Given the description of an element on the screen output the (x, y) to click on. 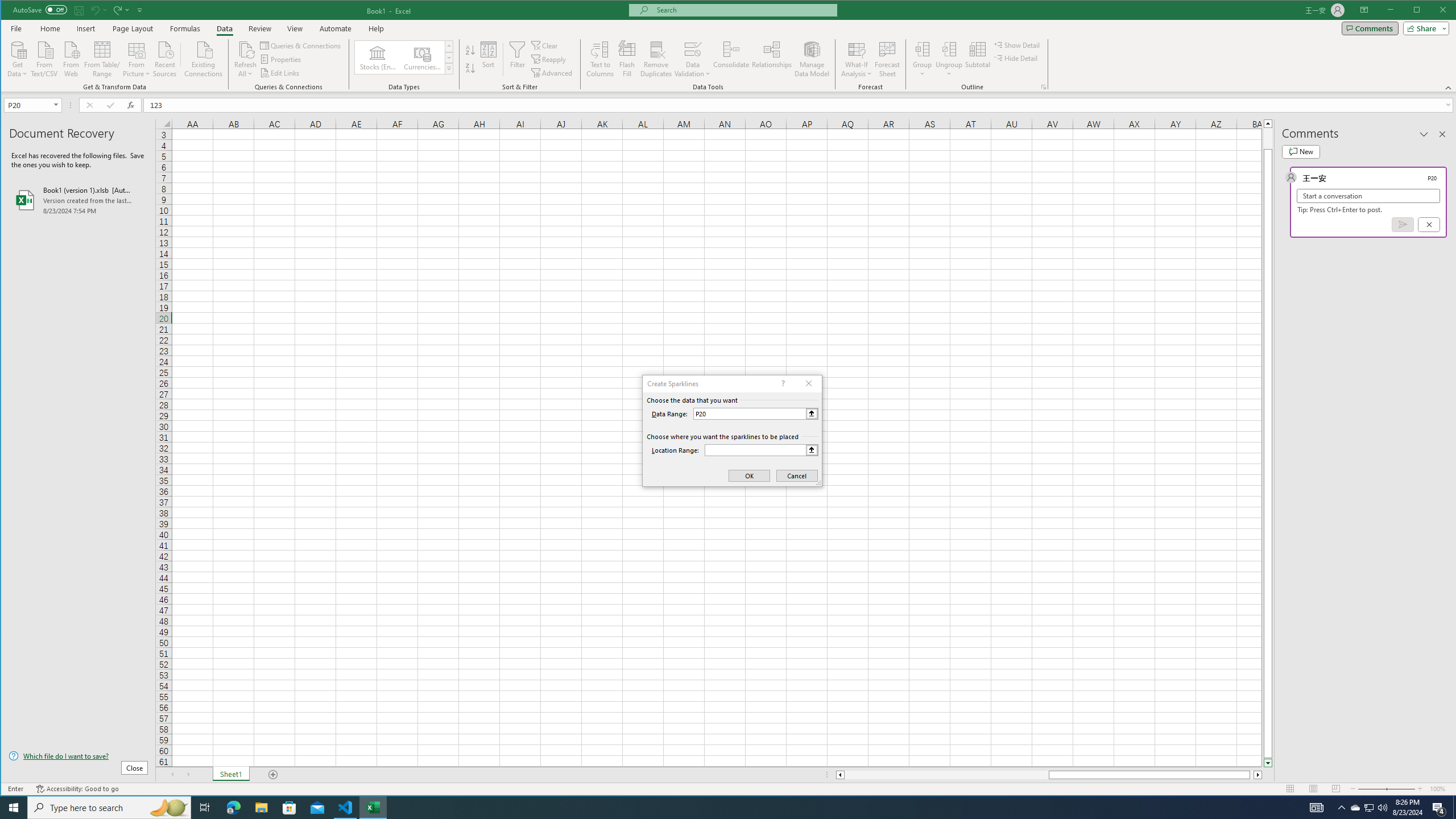
Subtotal (977, 59)
Forecast Sheet (887, 59)
Text to Columns... (600, 59)
From Web (70, 57)
Consolidate... (731, 59)
Reapply (549, 59)
